Given the description of an element on the screen output the (x, y) to click on. 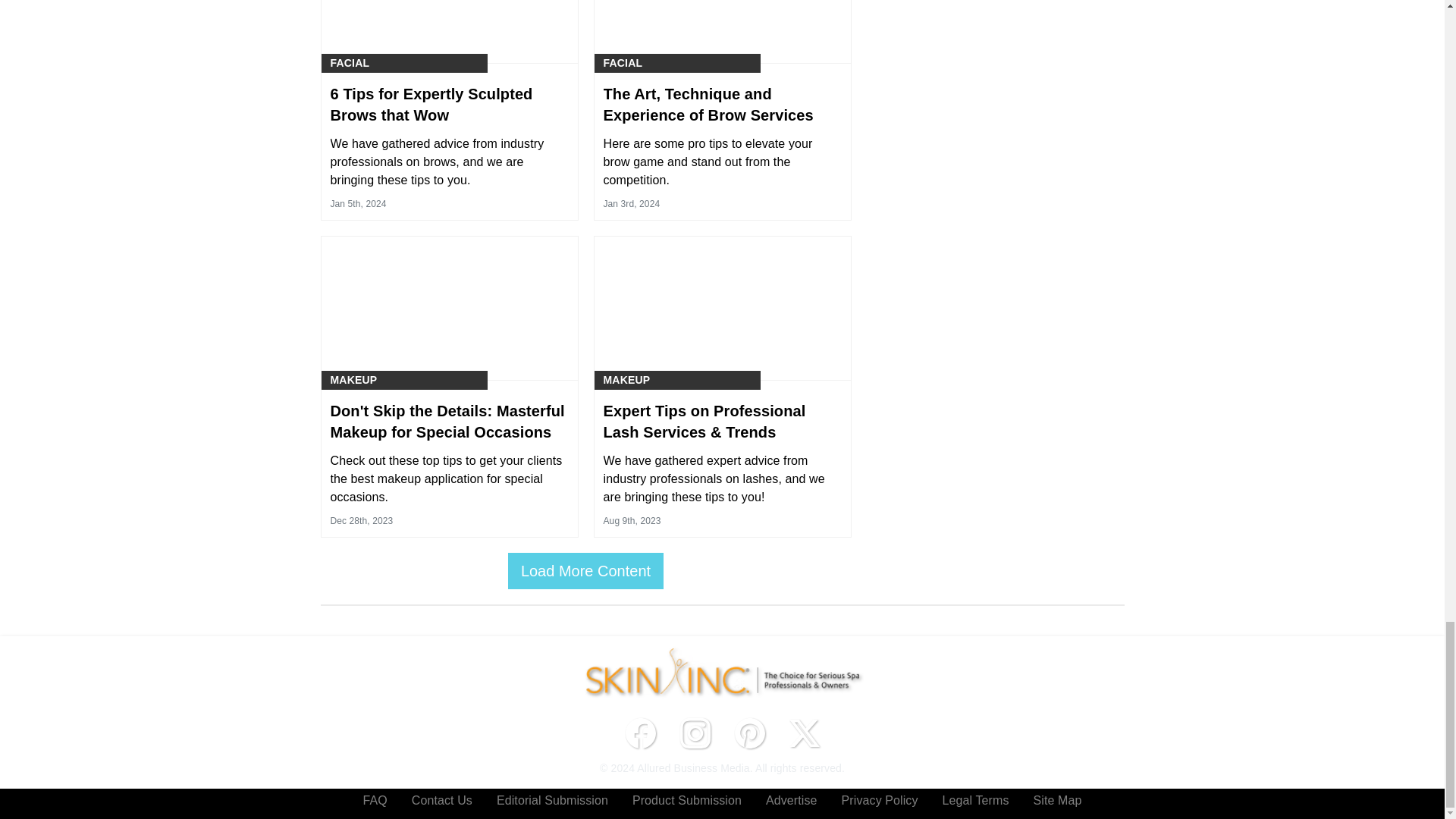
Instagram icon (694, 733)
Twitter X icon (803, 733)
Facebook icon (639, 733)
Pinterest icon (748, 733)
